Given the description of an element on the screen output the (x, y) to click on. 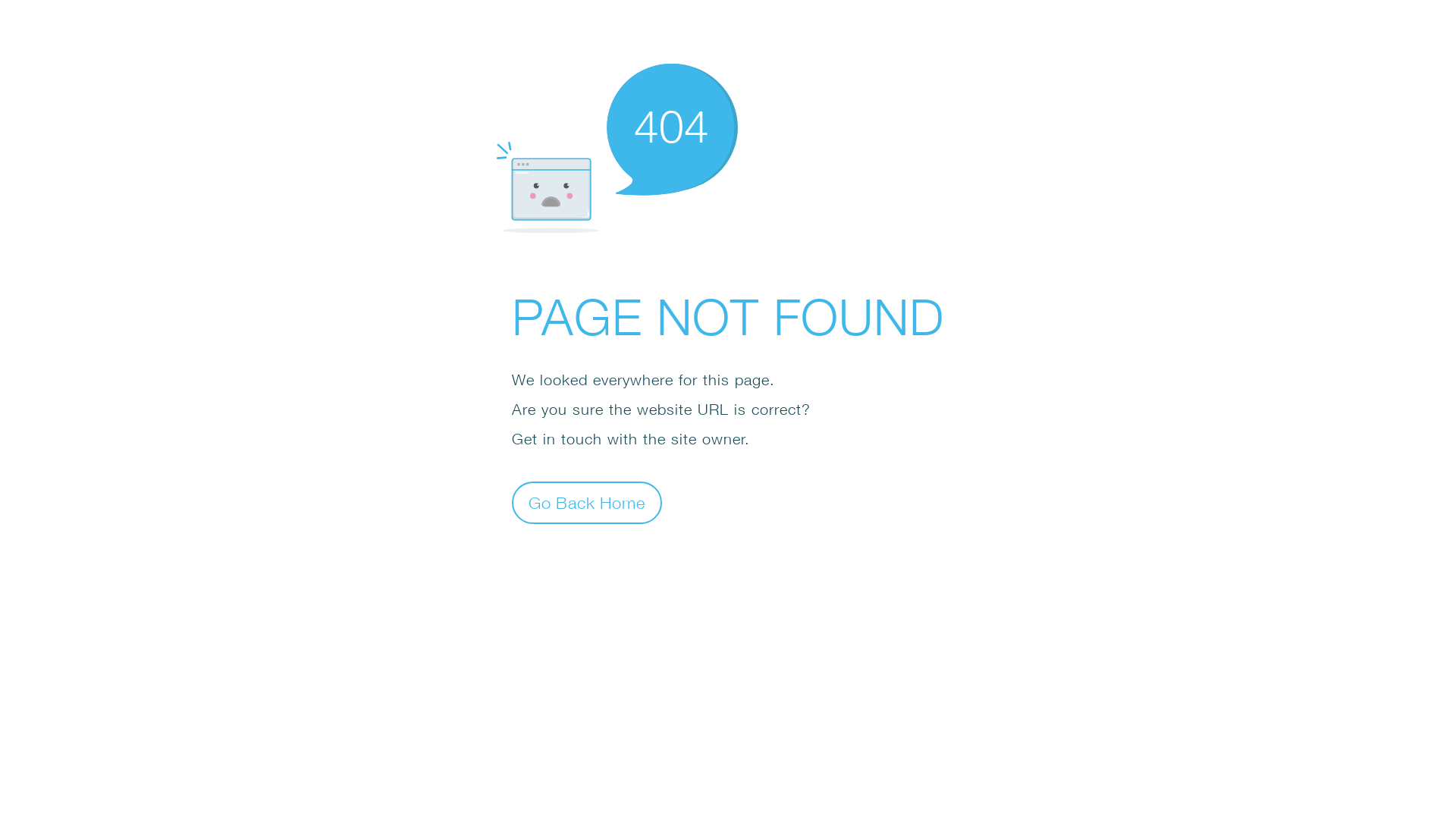
Go Back Home Element type: text (586, 502)
